Given the description of an element on the screen output the (x, y) to click on. 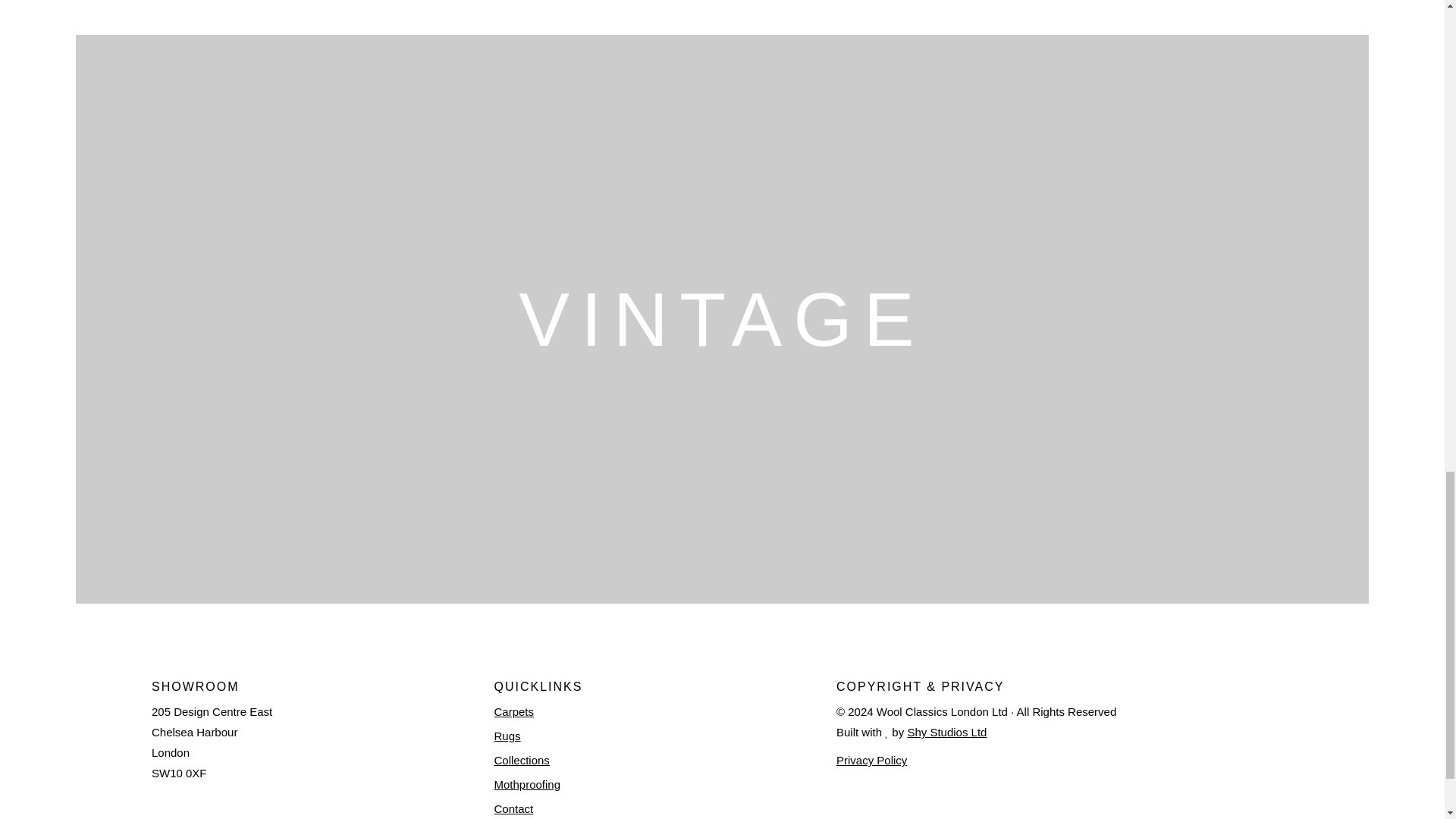
Shy Studios Ltd (947, 731)
Privacy Policy (871, 760)
Carpets (666, 711)
Collections (666, 760)
Rugs (666, 735)
Mothproofing (666, 783)
